Given the description of an element on the screen output the (x, y) to click on. 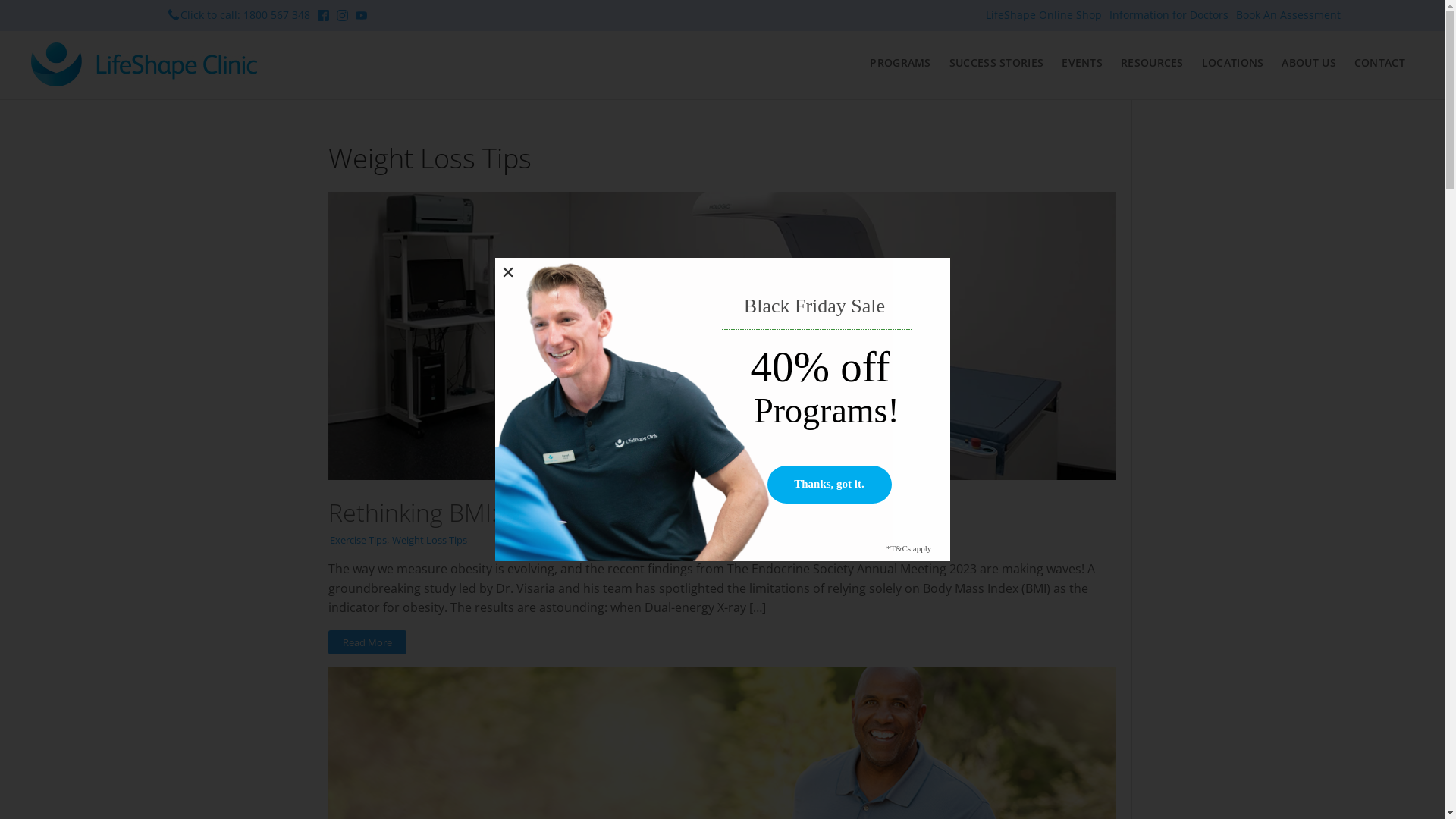
Click to call: 1800 567 348 Element type: text (241, 14)
Rethinking BMI: The Future of Obesity Assessment Element type: text (601, 511)
EVENTS Element type: text (1082, 62)
Book An Assessment Element type: text (1288, 14)
LOCATIONS Element type: text (1232, 62)
RESOURCES Element type: text (1152, 62)
SUCCESS STORIES Element type: text (996, 62)
Thanks, got it. Element type: text (829, 484)
CONTACT Element type: text (1379, 62)
ABOUT US Element type: text (1308, 62)
Exercise Tips Element type: text (357, 539)
PROGRAMS Element type: text (900, 62)
Information for Doctors Element type: text (1168, 14)
Read More Element type: text (366, 642)
Weight Loss Tips Element type: text (428, 539)
